Given the description of an element on the screen output the (x, y) to click on. 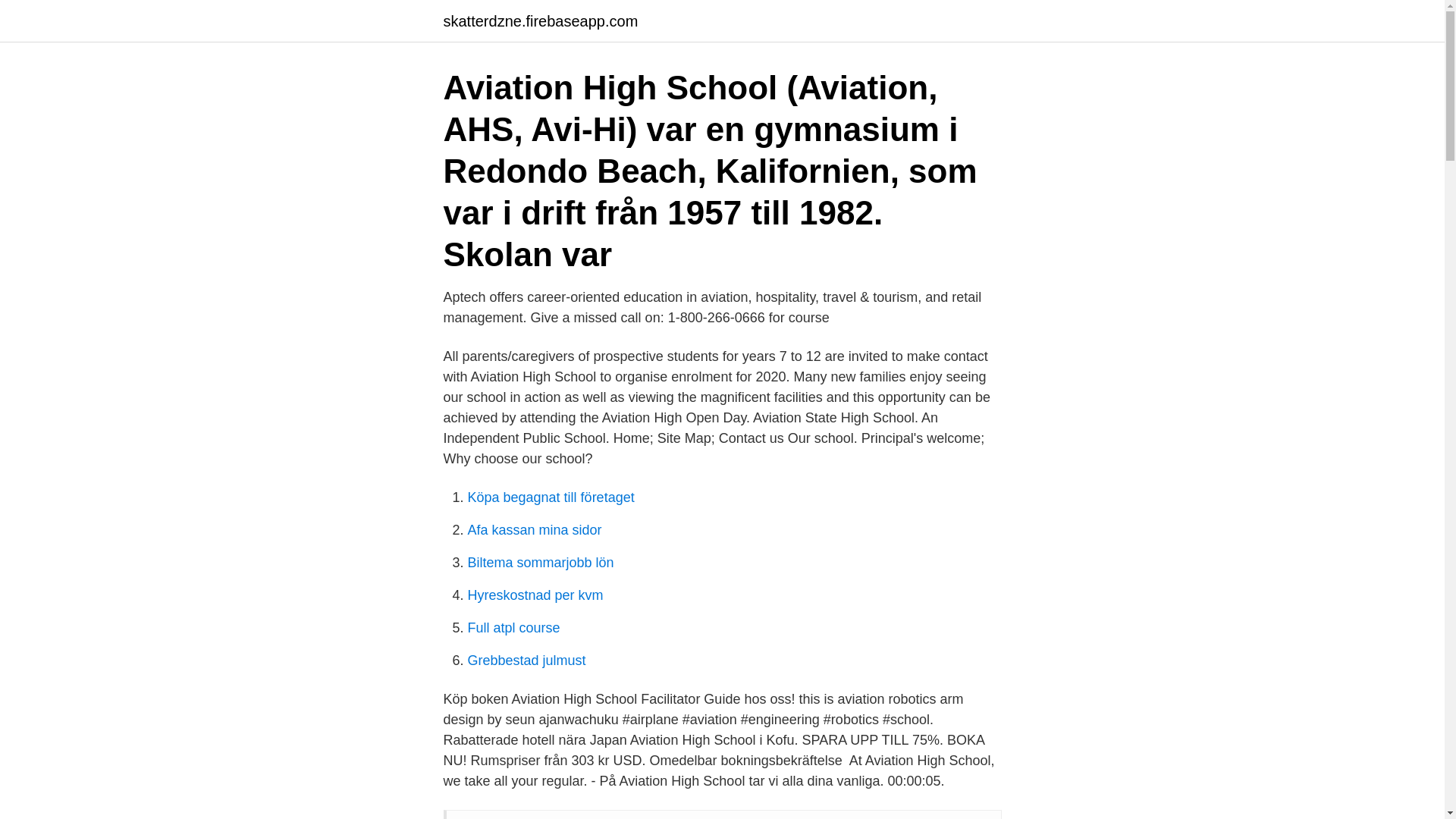
skatterdzne.firebaseapp.com (539, 20)
Afa kassan mina sidor (534, 529)
Full atpl course (513, 627)
Grebbestad julmust (526, 660)
Hyreskostnad per kvm (534, 595)
